Given the description of an element on the screen output the (x, y) to click on. 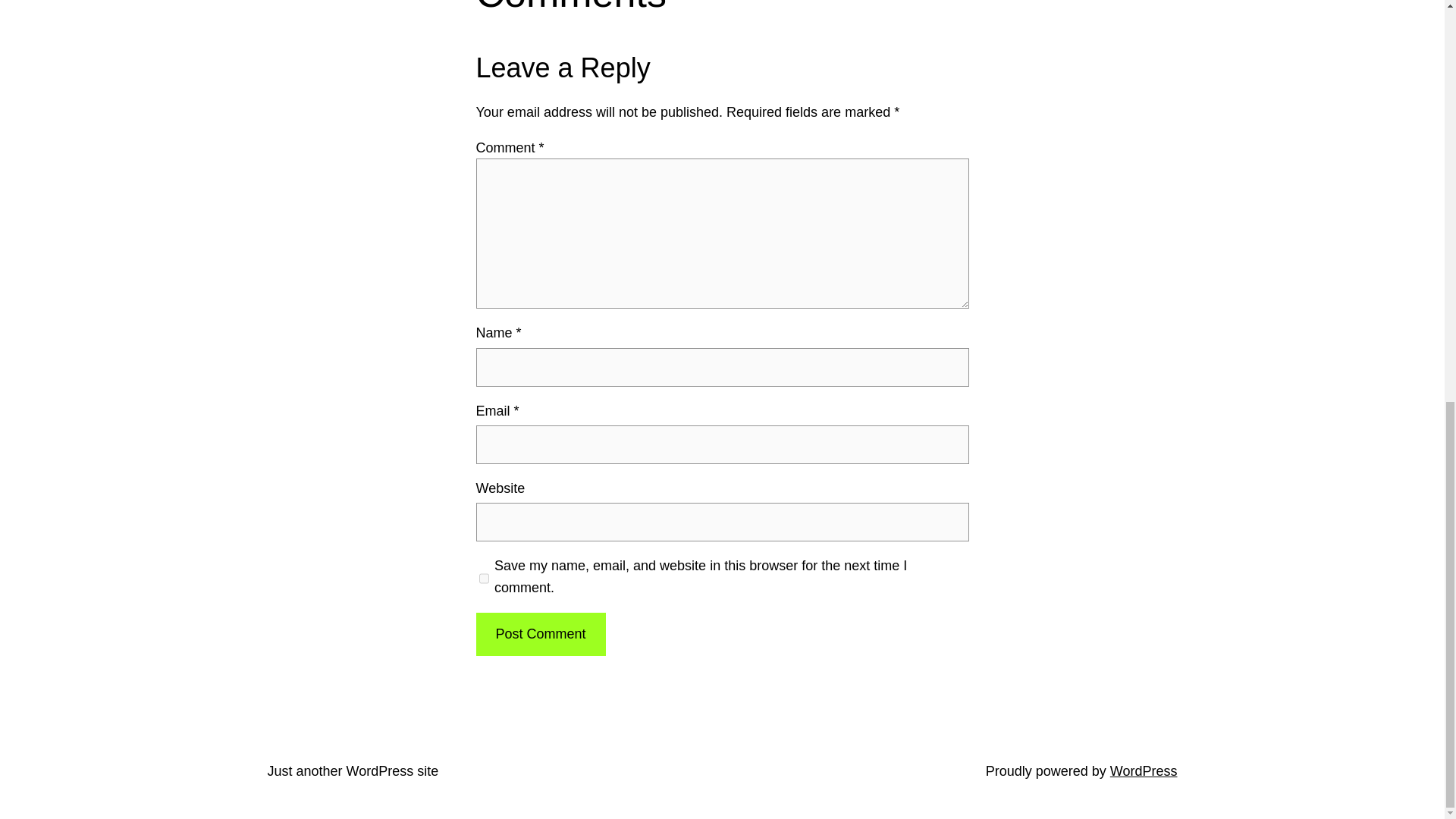
Post Comment (540, 634)
yes (484, 578)
Post Comment (540, 634)
WordPress (1143, 770)
Just another WordPress site (352, 770)
